Given the description of an element on the screen output the (x, y) to click on. 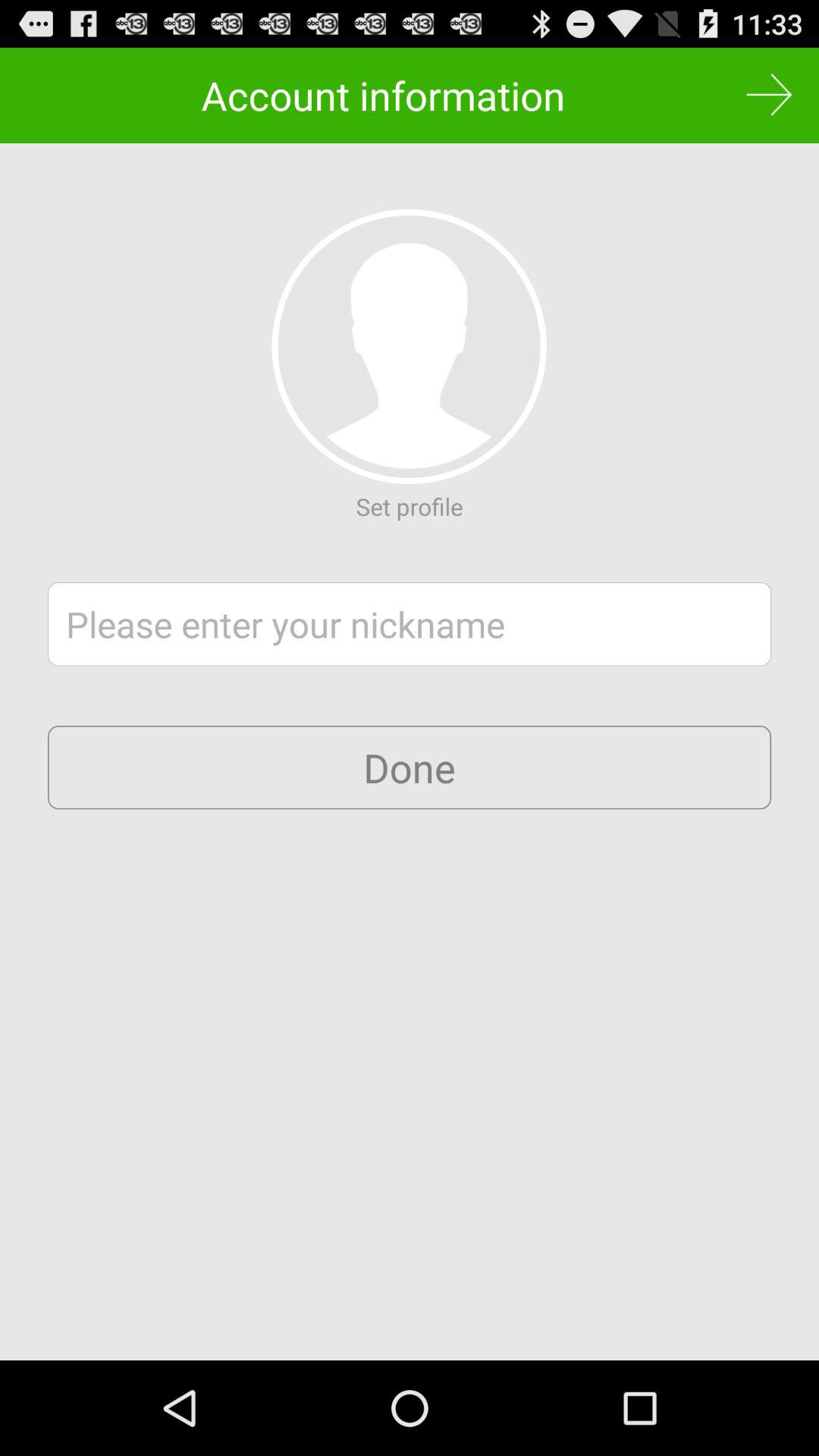
flip until done item (409, 767)
